Given the description of an element on the screen output the (x, y) to click on. 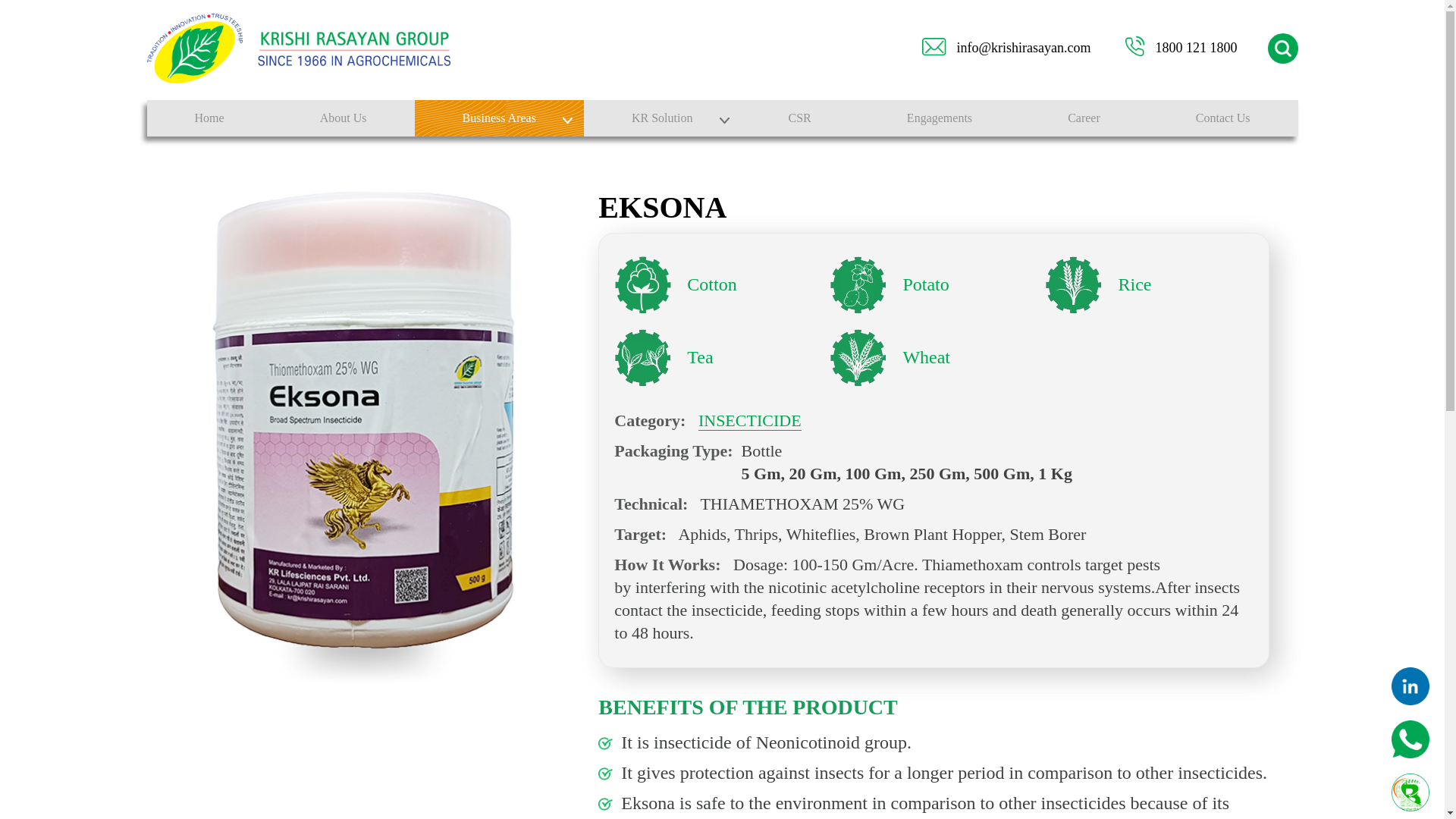
Potato (932, 284)
Wheat (932, 357)
Rice (1148, 284)
Tea Icon (642, 357)
Cotton Icon (642, 284)
Home (209, 117)
Bandhan Solution App (1410, 792)
Career (1084, 117)
LinkedIn (1410, 686)
Tea (718, 357)
Business Areas (498, 117)
Contact Us (1223, 117)
Potato Icon (857, 284)
About Us (343, 117)
KR Solution (662, 117)
